Given the description of an element on the screen output the (x, y) to click on. 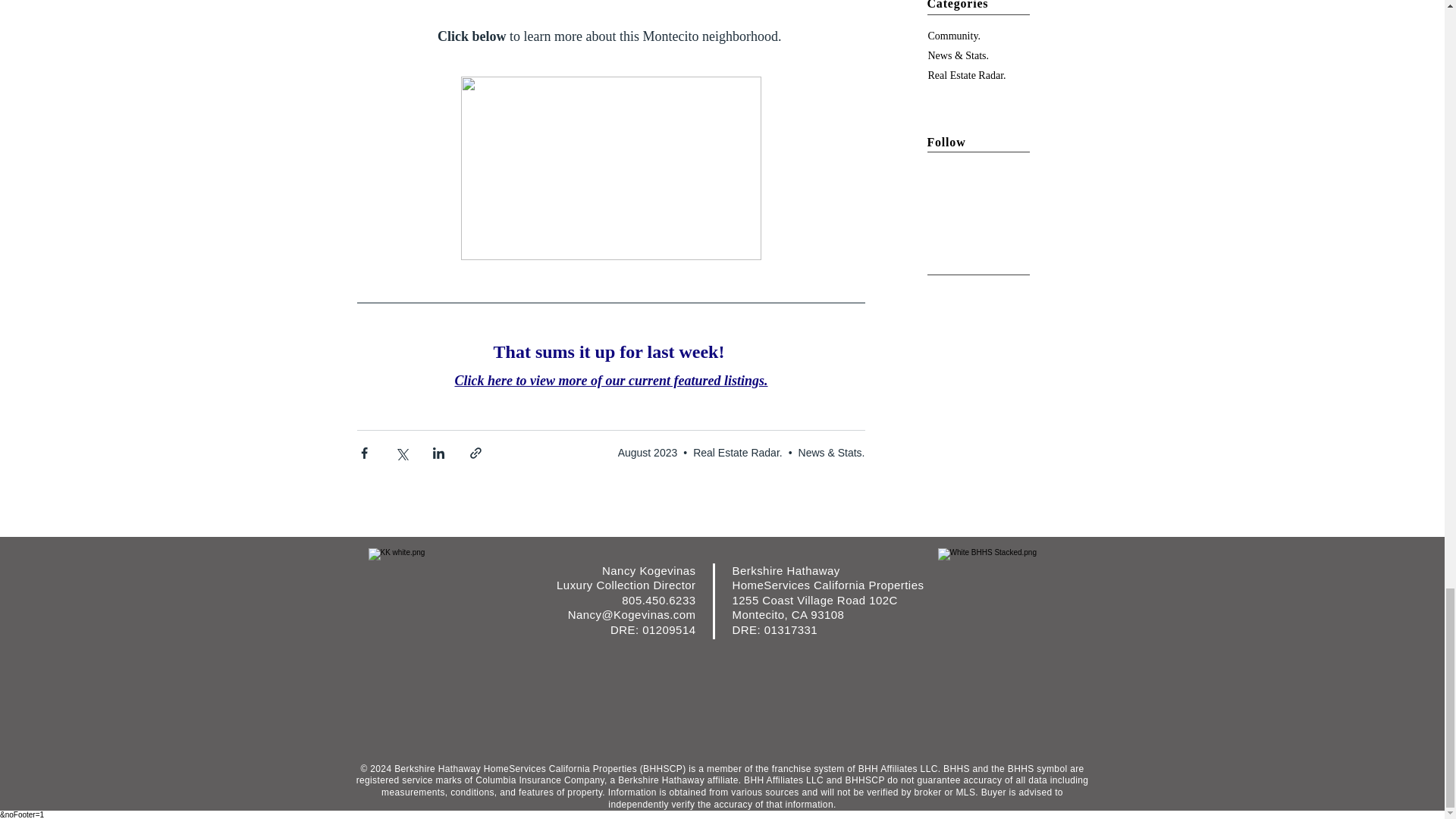
Real Estate Radar. (738, 452)
August 2023 (647, 452)
Click here to view more of our current featured listings. (610, 379)
